Given the description of an element on the screen output the (x, y) to click on. 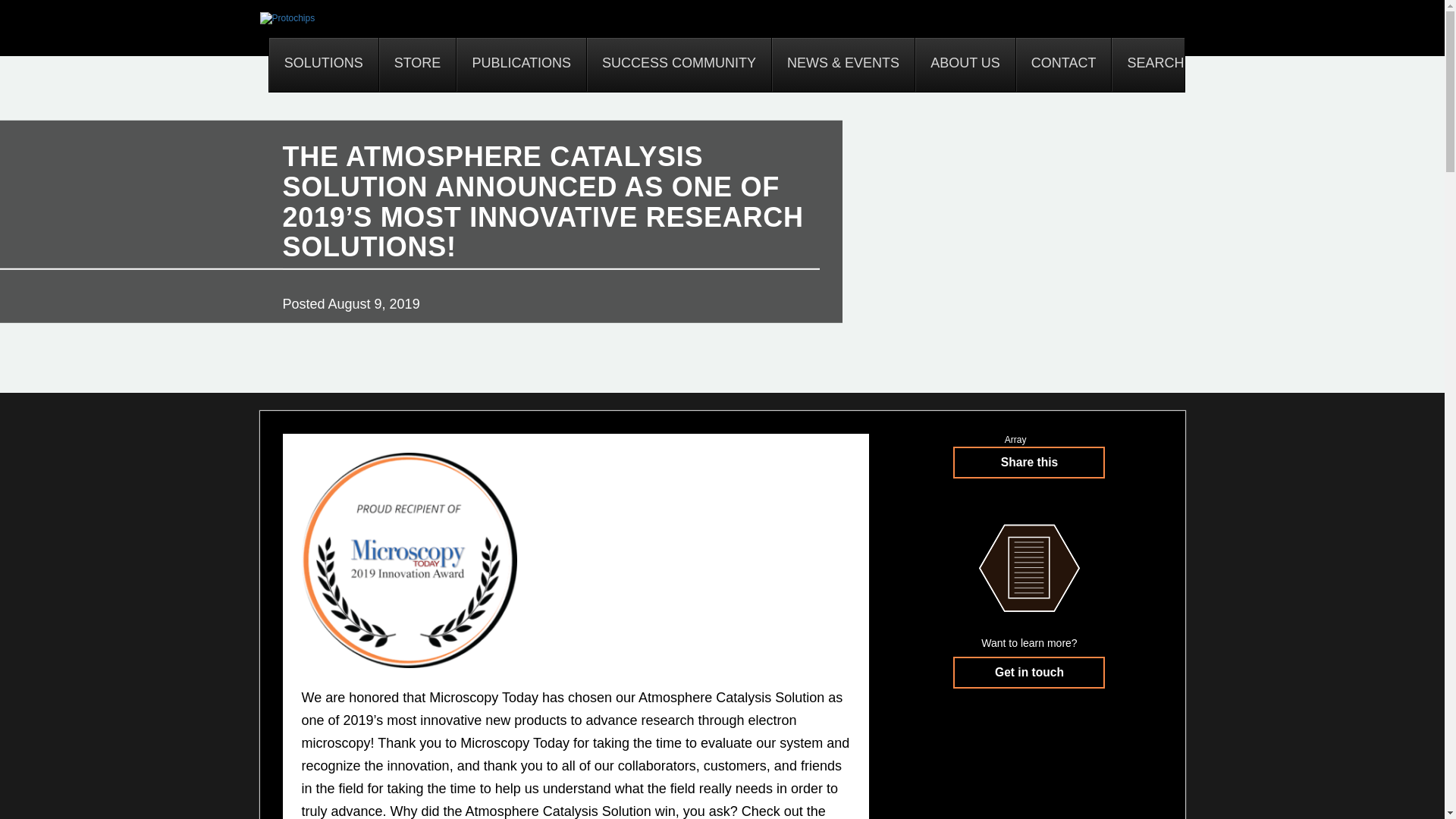
SOLUTIONS (323, 64)
CONTACT (1063, 64)
SUCCESS COMMUNITY (678, 64)
STORE (417, 64)
PUBLICATIONS (520, 64)
ABOUT US (964, 64)
